Given the description of an element on the screen output the (x, y) to click on. 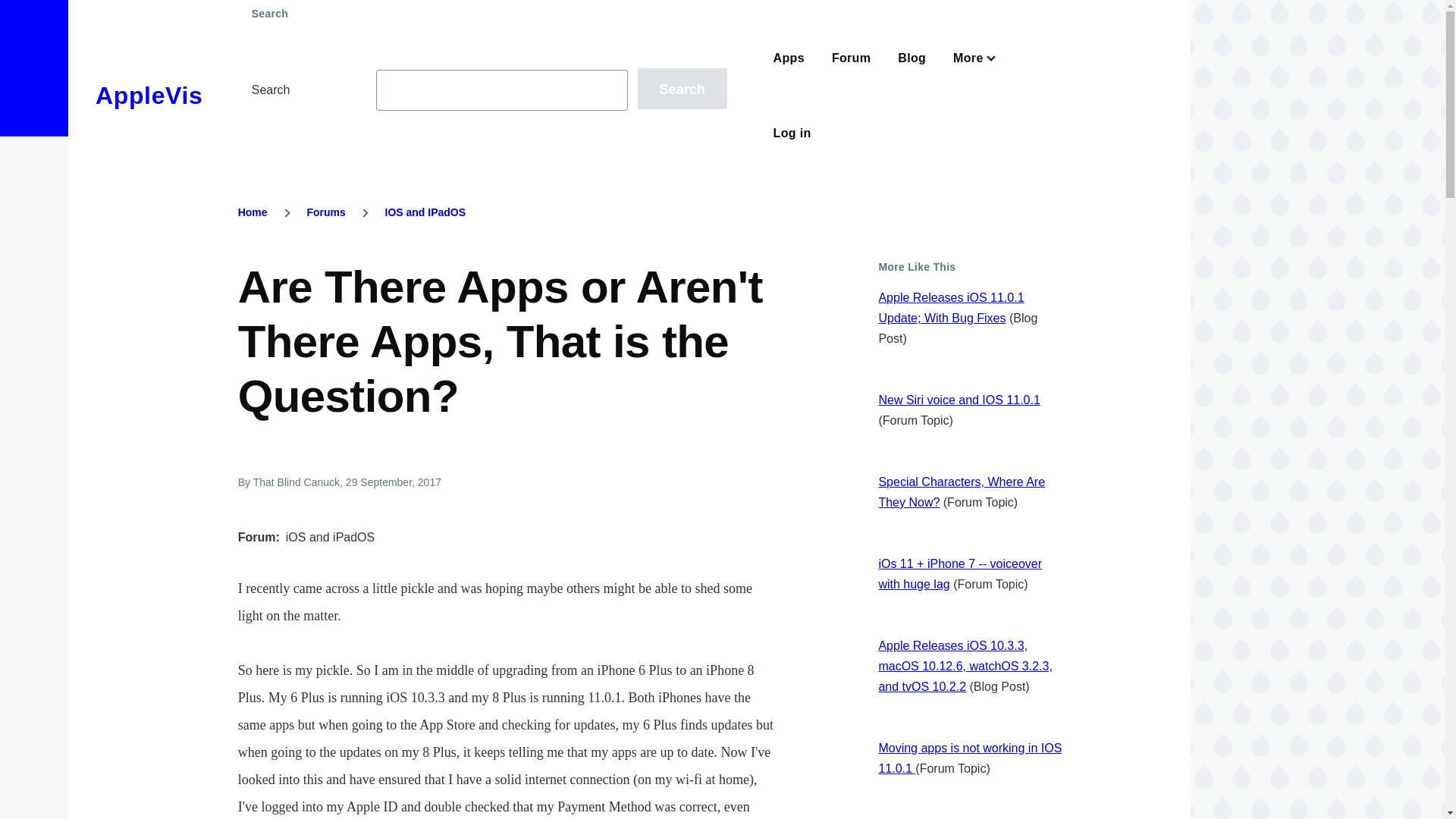
Apple Releases iOS 11.0.1 Update; With Bug Fixes (950, 307)
New Siri voice and IOS 11.0.1 (958, 399)
Special Characters, Where Are They Now? (961, 491)
Home (252, 212)
IOS and IPadOS (425, 212)
Home (149, 94)
Search (681, 87)
Forums (325, 212)
Skip to main content (595, 6)
